Given the description of an element on the screen output the (x, y) to click on. 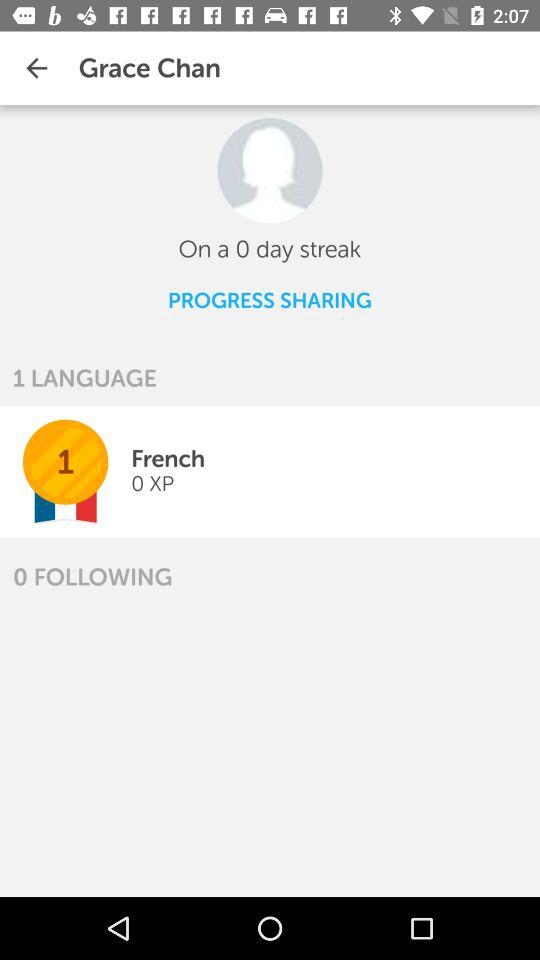
open the icon next to the 1 (168, 458)
